Given the description of an element on the screen output the (x, y) to click on. 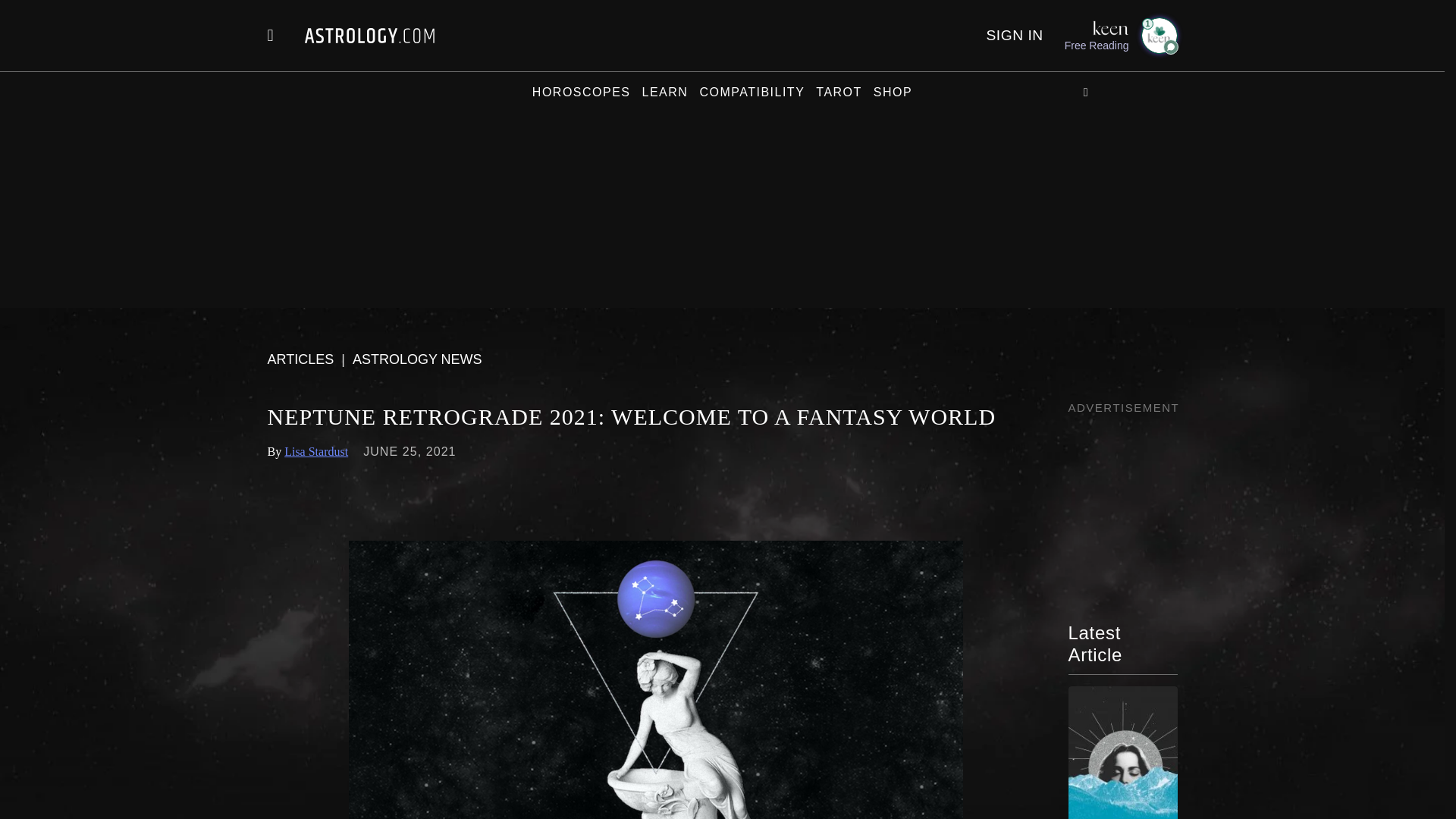
SIGN IN (1013, 35)
1 (1158, 35)
